Given the description of an element on the screen output the (x, y) to click on. 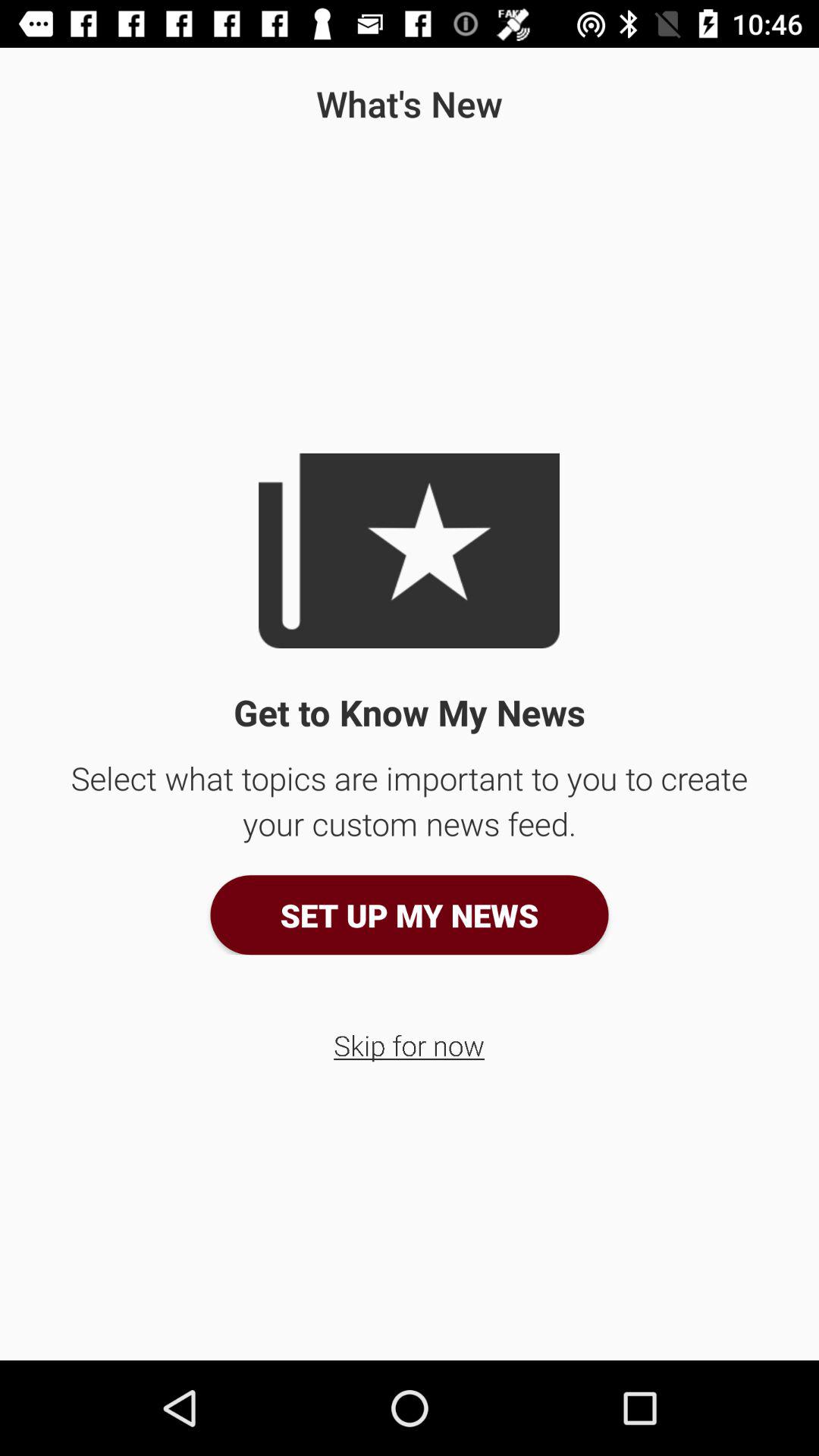
flip until the skip for now icon (409, 1044)
